Given the description of an element on the screen output the (x, y) to click on. 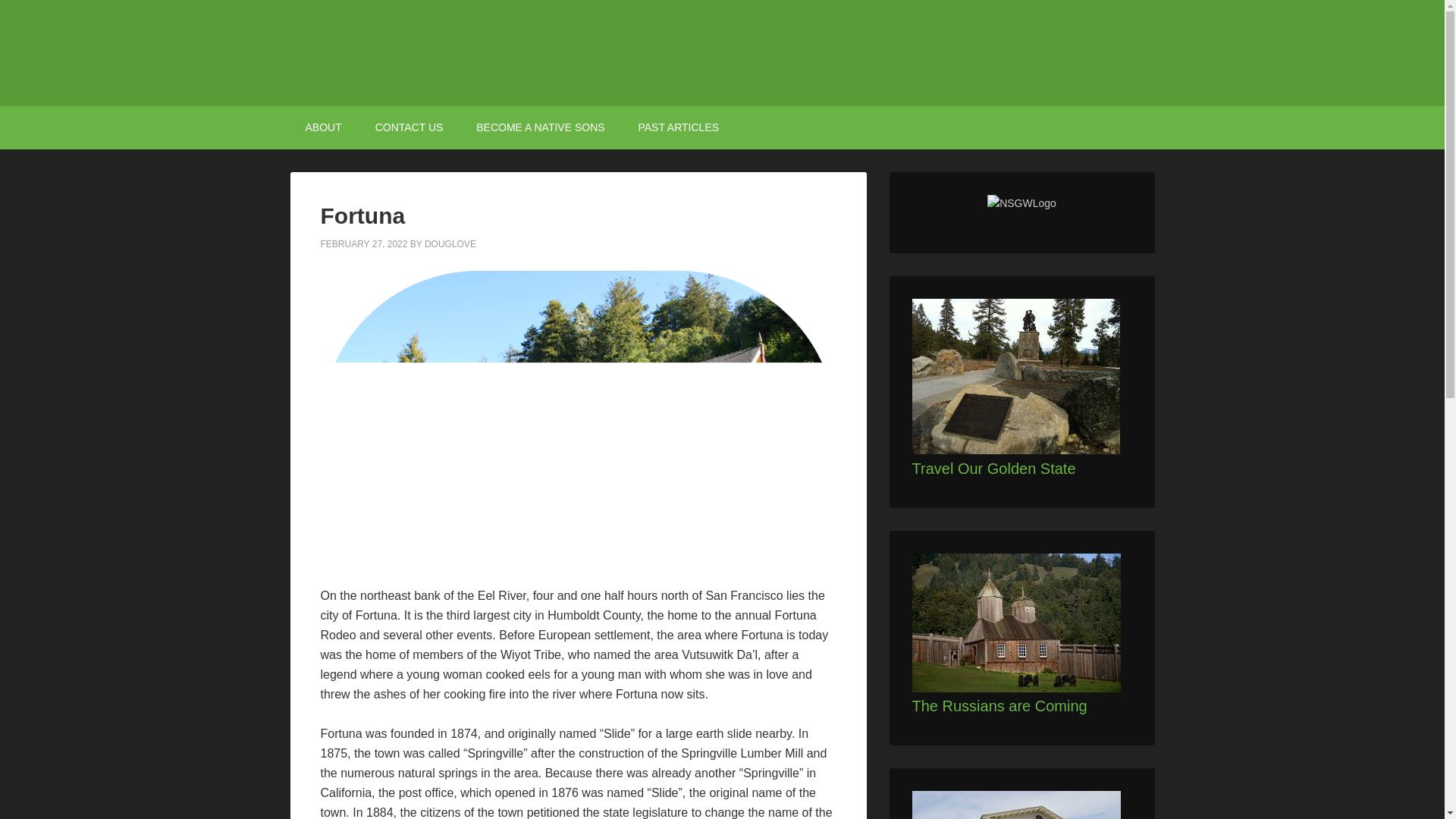
Travel Our Golden State (993, 467)
Fortuna (362, 215)
RETRO RAMBLINGS (721, 52)
CONTACT US (408, 127)
DOUGLOVE (450, 244)
The Russians are Coming (998, 705)
PAST ARTICLES (678, 127)
BECOME A NATIVE SONS (540, 127)
ABOUT (322, 127)
